Given the description of an element on the screen output the (x, y) to click on. 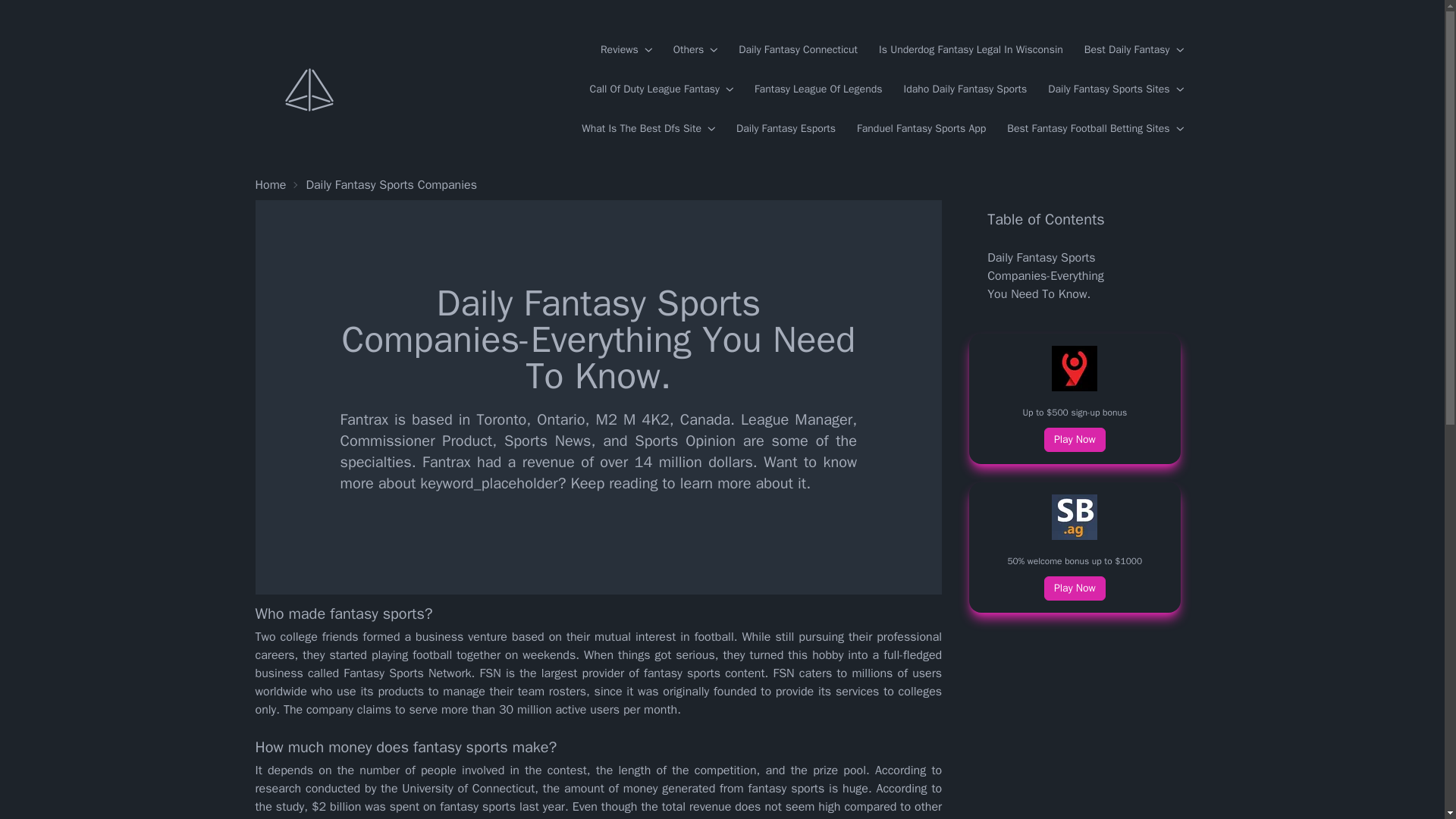
What Is The Best Dfs Site (647, 128)
Daily Fantasy Esports (785, 128)
Reviews (625, 49)
Fanduel Fantasy Sports App (921, 128)
Daily Fantasy Sports Sites (1115, 89)
Call Of Duty League Fantasy (660, 89)
Is Underdog Fantasy Legal In Wisconsin (970, 49)
Others (694, 49)
Daily Fantasy Connecticut (797, 49)
Idaho Daily Fantasy Sports (965, 89)
Best Daily Fantasy (1133, 49)
Fantasy League Of Legends (818, 89)
Best Fantasy Football Betting Sites (1094, 128)
